Given the description of an element on the screen output the (x, y) to click on. 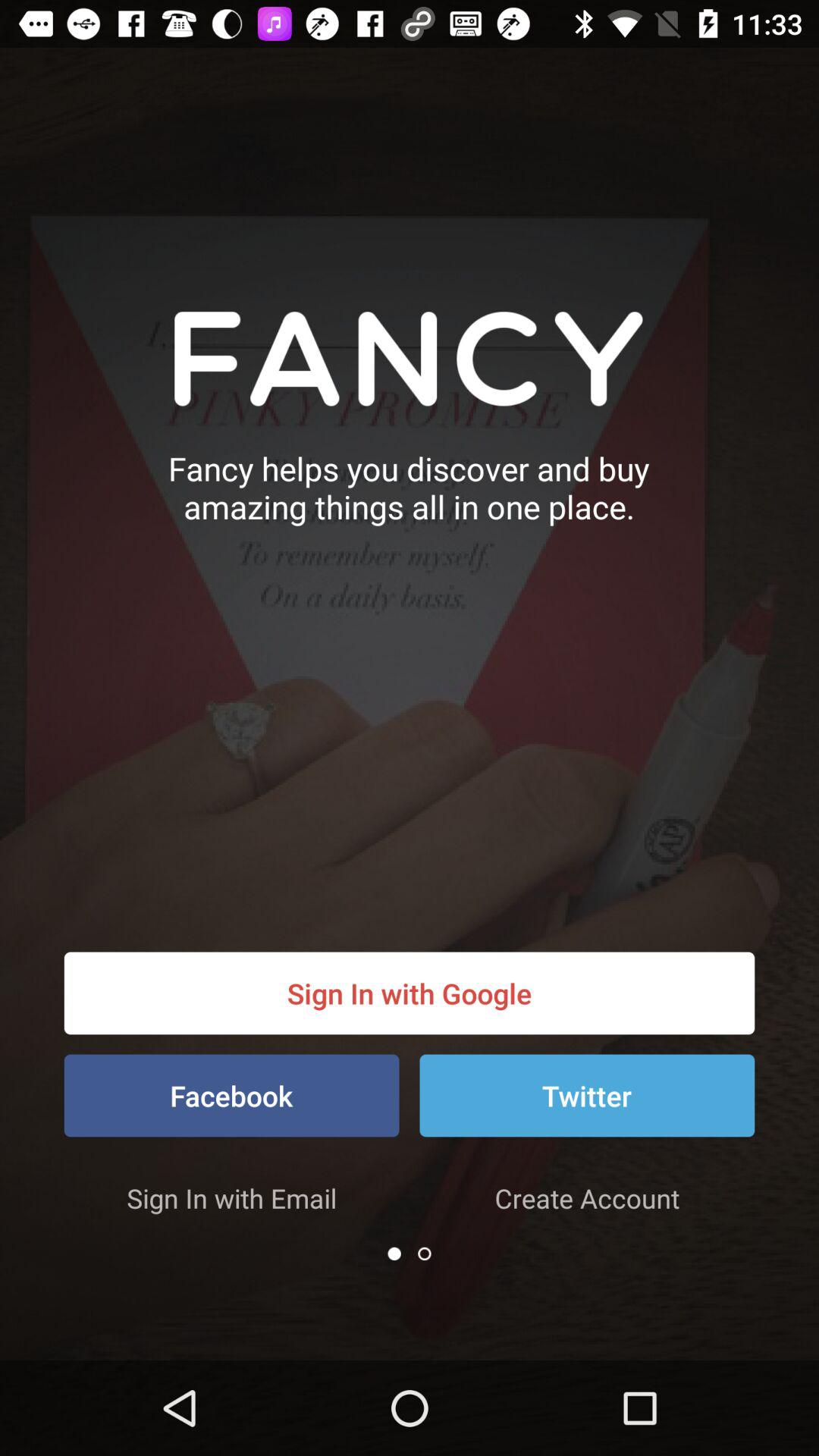
open the facebook (231, 1095)
